Given the description of an element on the screen output the (x, y) to click on. 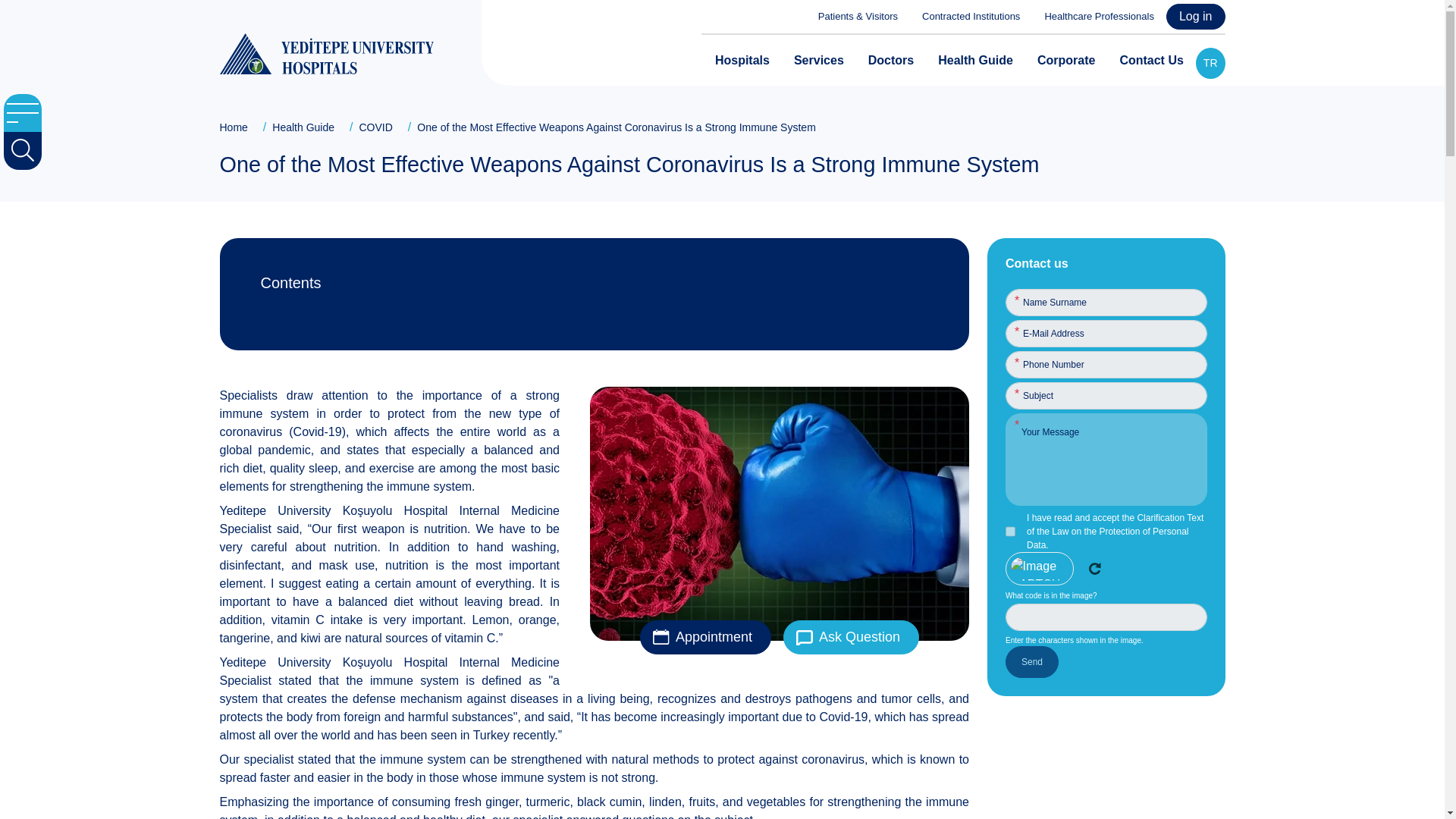
Doctors (891, 60)
How do we know whether our immune system is strong? (596, 321)
Healthcare Professionals (1093, 16)
Doctors (891, 60)
Contracted Institutions (965, 16)
Contact Us (1150, 60)
Health Guide (975, 60)
